Given the description of an element on the screen output the (x, y) to click on. 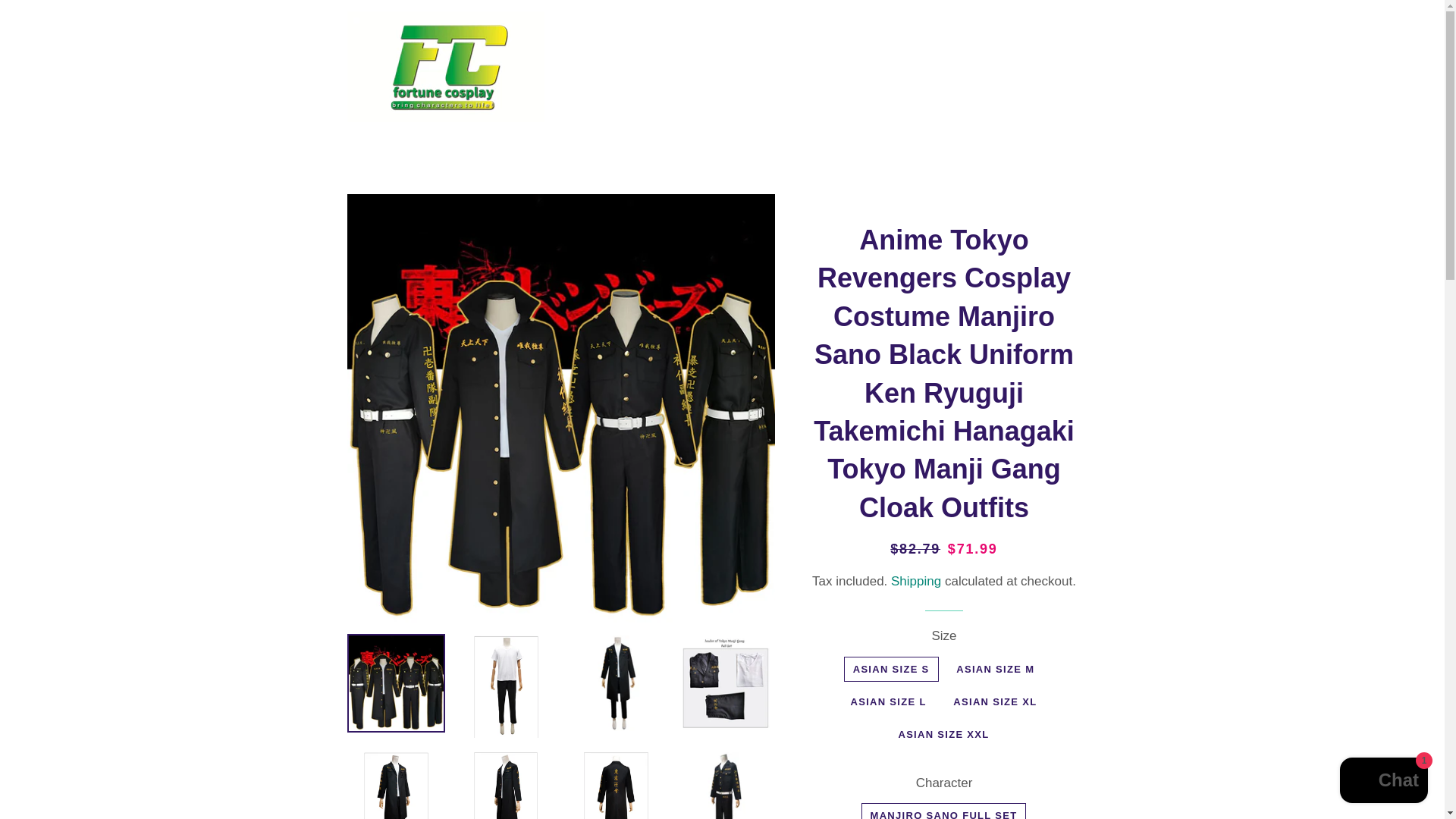
Shopify online store chat (1383, 781)
